Given the description of an element on the screen output the (x, y) to click on. 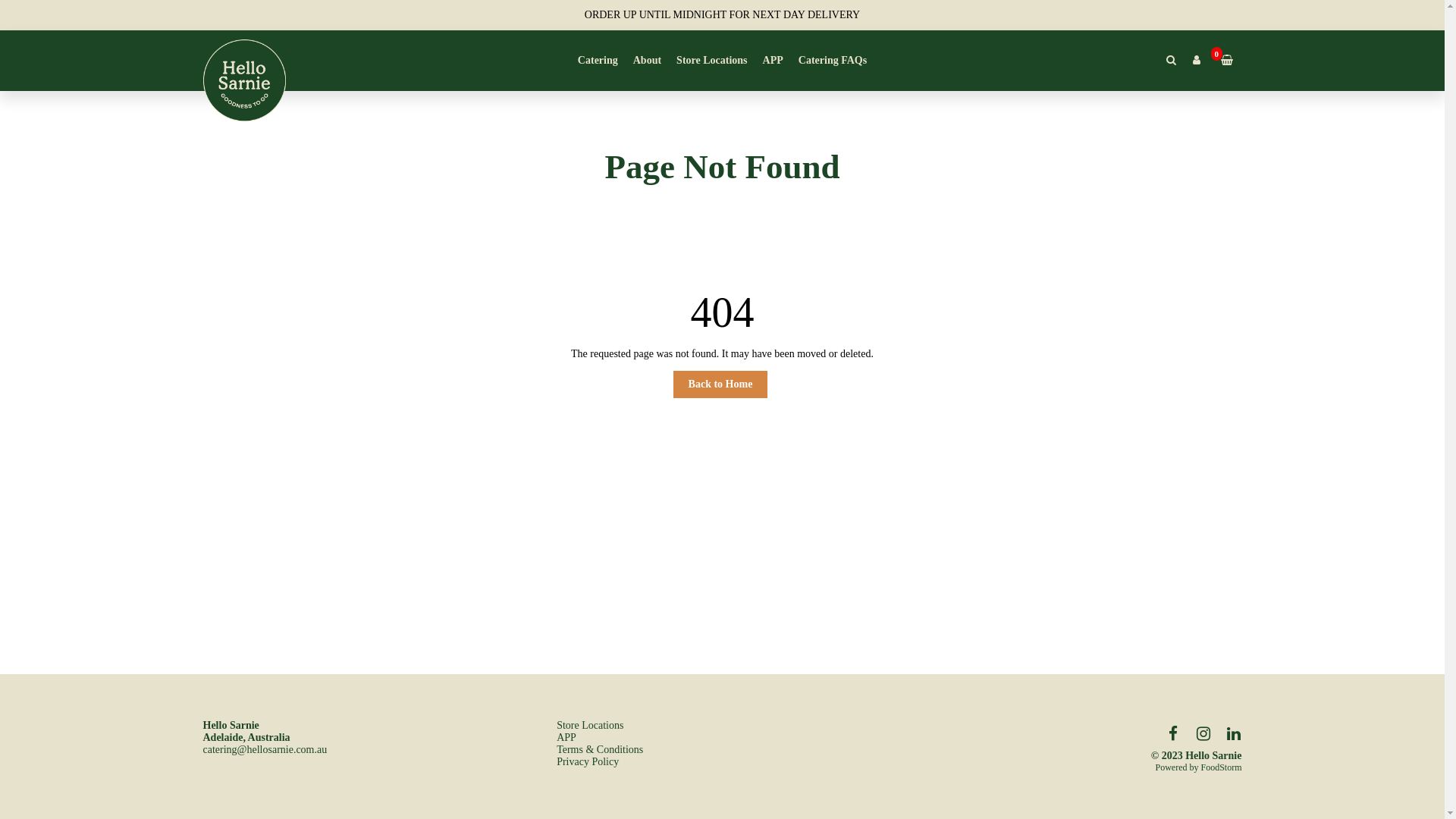
APP Element type: text (566, 737)
cart summary
0
0 items in cart Element type: text (1223, 60)
APP Element type: text (772, 60)
Back to Home Element type: text (720, 384)
About Element type: text (646, 60)
Store Locations Element type: text (589, 725)
Powered by FoodStorm Element type: text (1076, 767)
Catering FAQs Element type: text (832, 60)
Catering Element type: text (597, 60)
catering@hellosarnie.com.au Element type: text (265, 749)
Privacy Policy Element type: text (587, 761)
Terms & Conditions Element type: text (599, 749)
Store Locations Element type: text (711, 60)
Sign In Element type: hover (1196, 60)
Search Element type: hover (1171, 60)
